Given the description of an element on the screen output the (x, y) to click on. 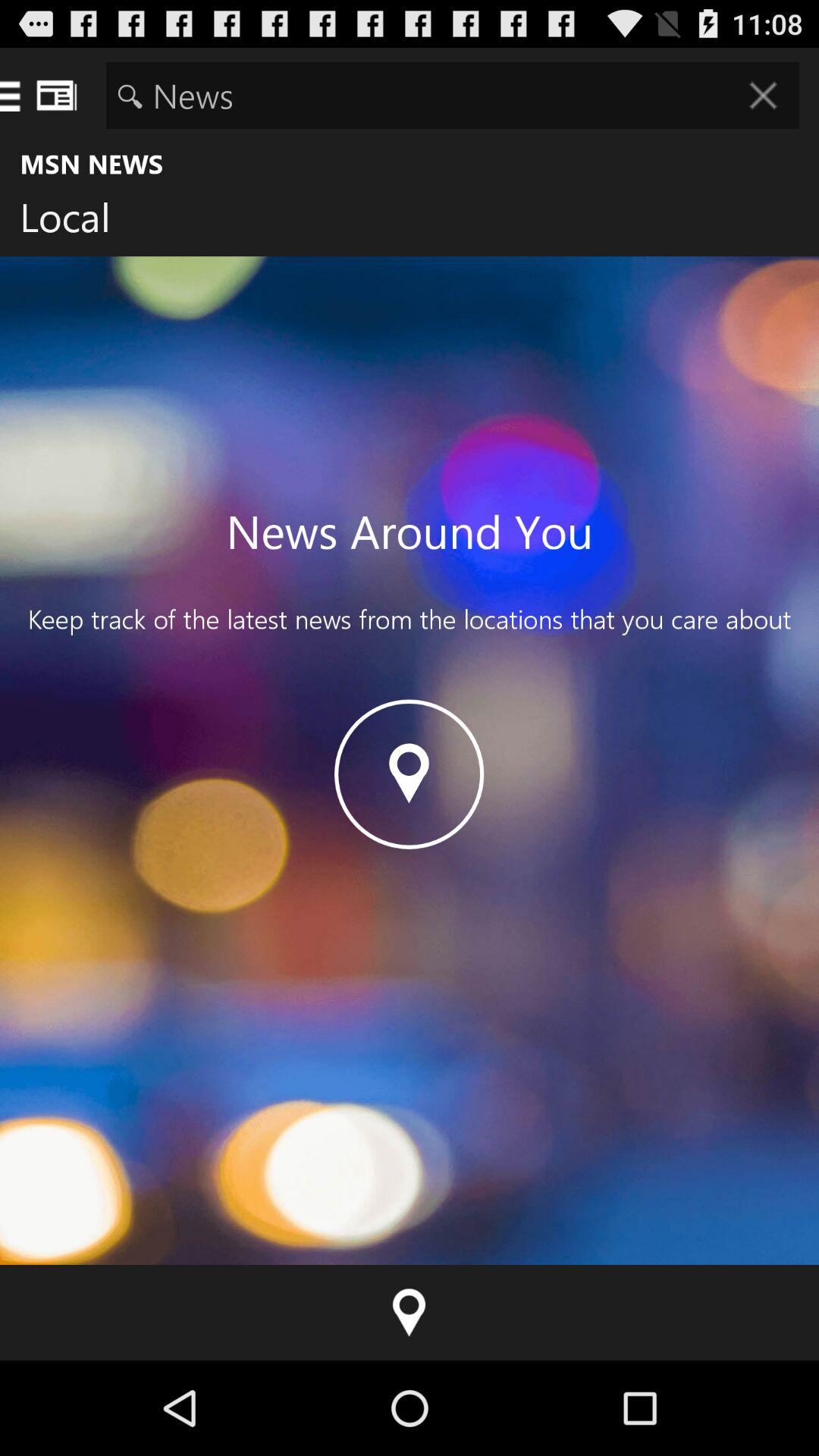
search (452, 95)
